Given the description of an element on the screen output the (x, y) to click on. 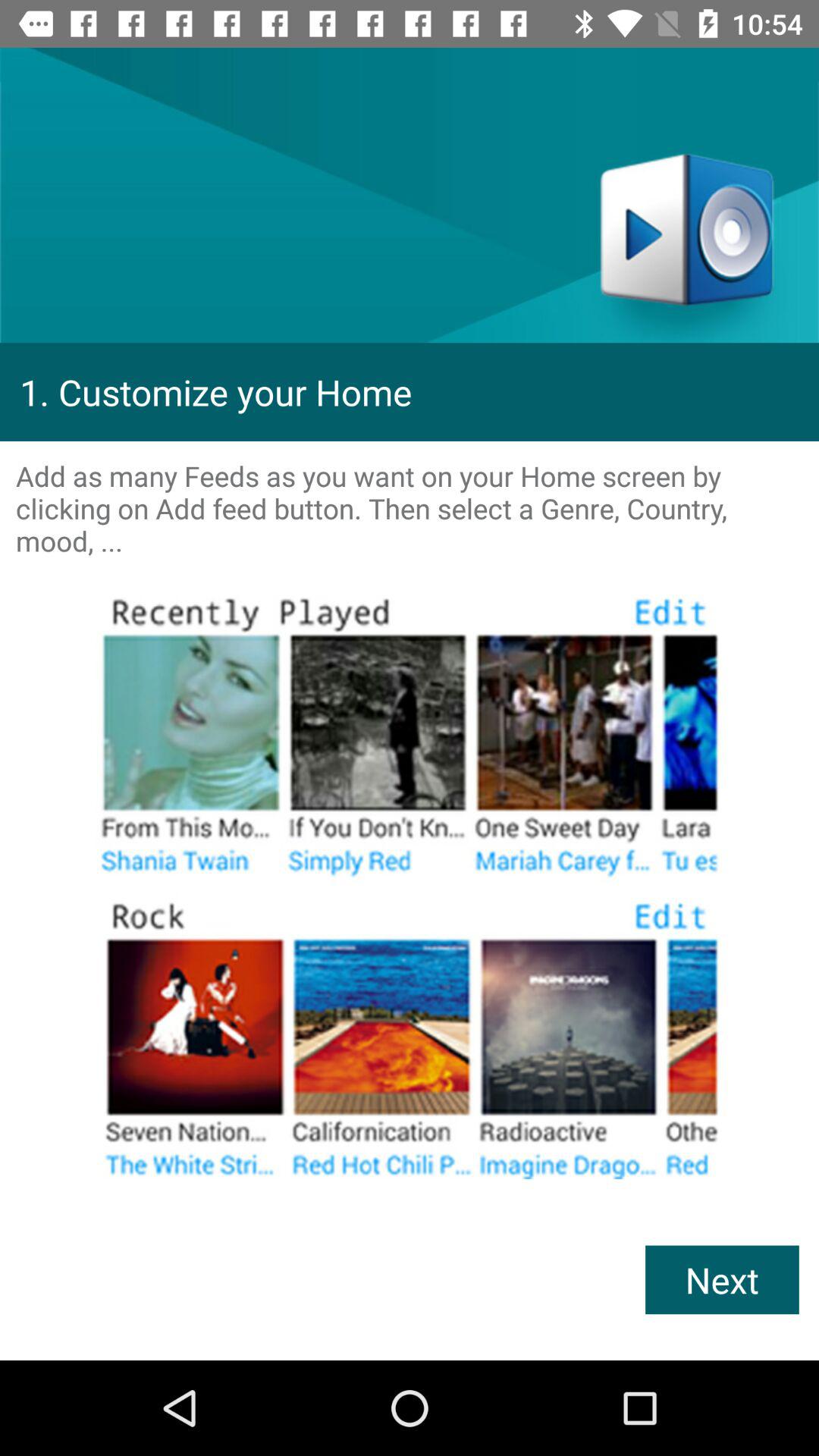
turn off the next at the bottom right corner (722, 1279)
